Given the description of an element on the screen output the (x, y) to click on. 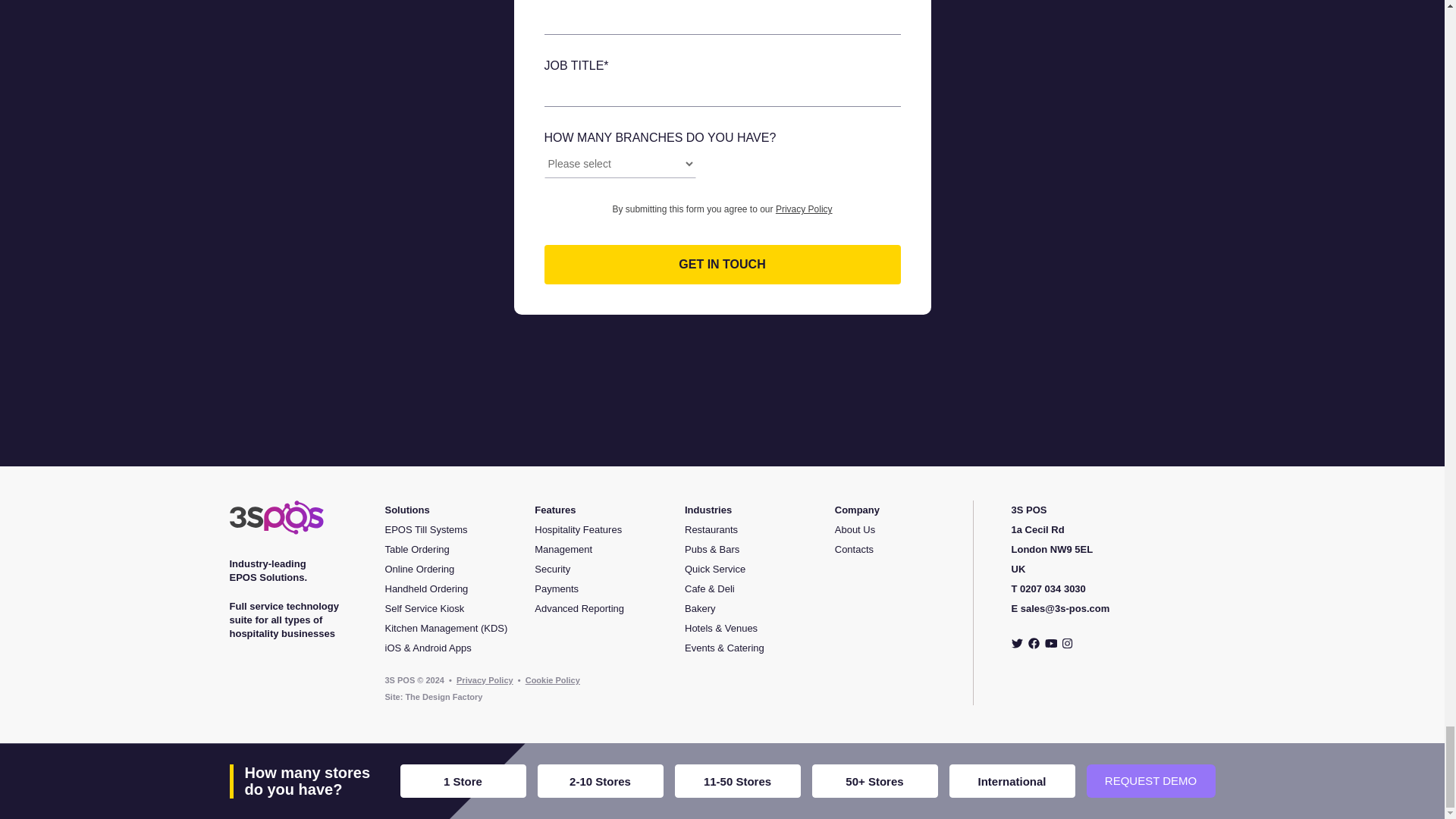
get in touch (722, 264)
